Given the description of an element on the screen output the (x, y) to click on. 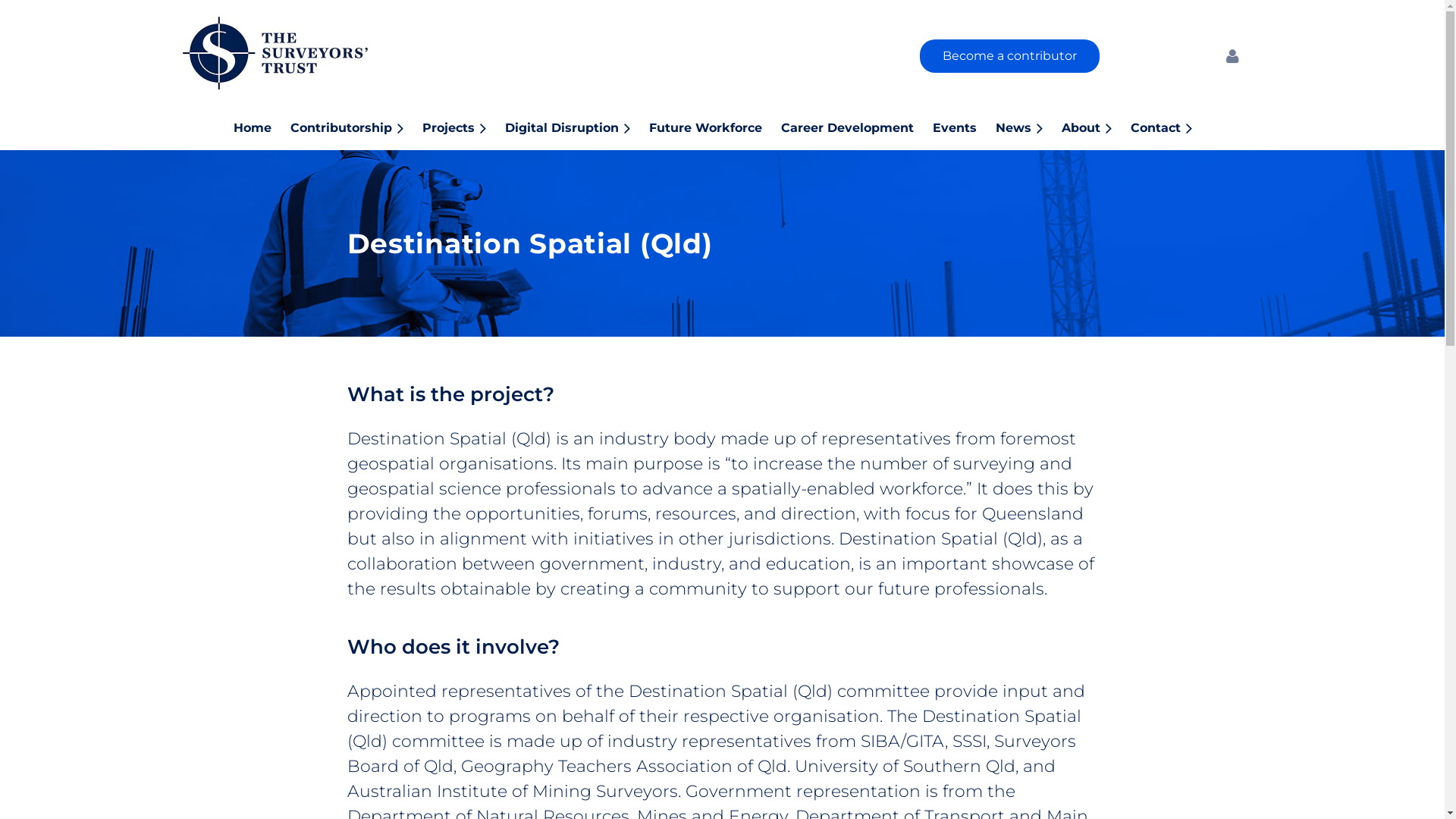
Projects Element type: text (463, 126)
Contact Element type: text (1170, 126)
Digital Disruption Element type: text (577, 126)
Home Element type: text (261, 126)
About Element type: text (1095, 126)
Log in Element type: text (1231, 55)
Future Workforce Element type: text (715, 126)
Contributorship Element type: text (356, 126)
Career Development Element type: text (856, 126)
Become a contributor Element type: text (1009, 55)
Events Element type: text (963, 126)
News Element type: text (1028, 126)
